Given the description of an element on the screen output the (x, y) to click on. 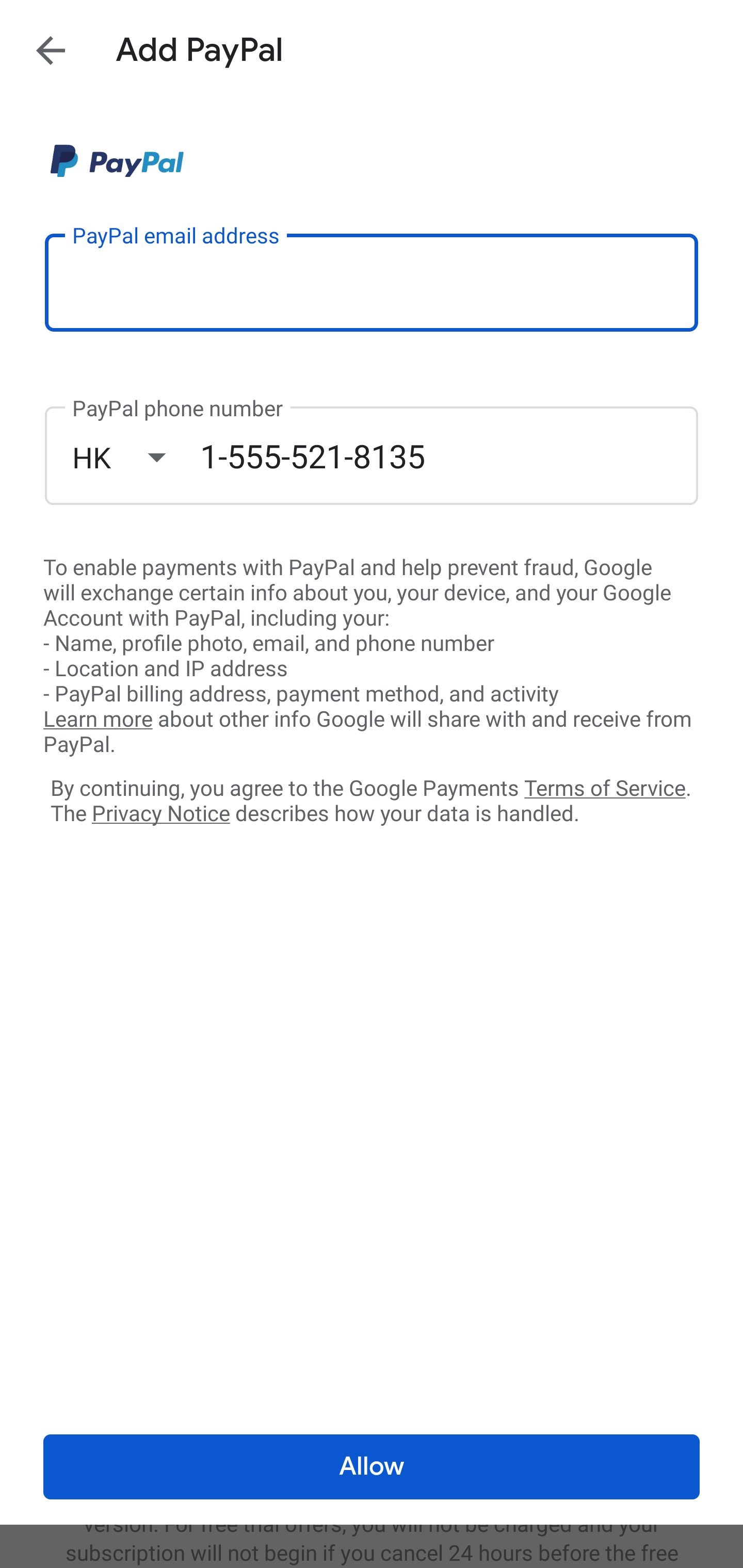
Navigate up (50, 50)
PayPal email address (371, 282)
HK (135, 456)
Learn more (97, 719)
Terms of Service (604, 787)
Privacy Notice (160, 814)
Allow (371, 1466)
